Given the description of an element on the screen output the (x, y) to click on. 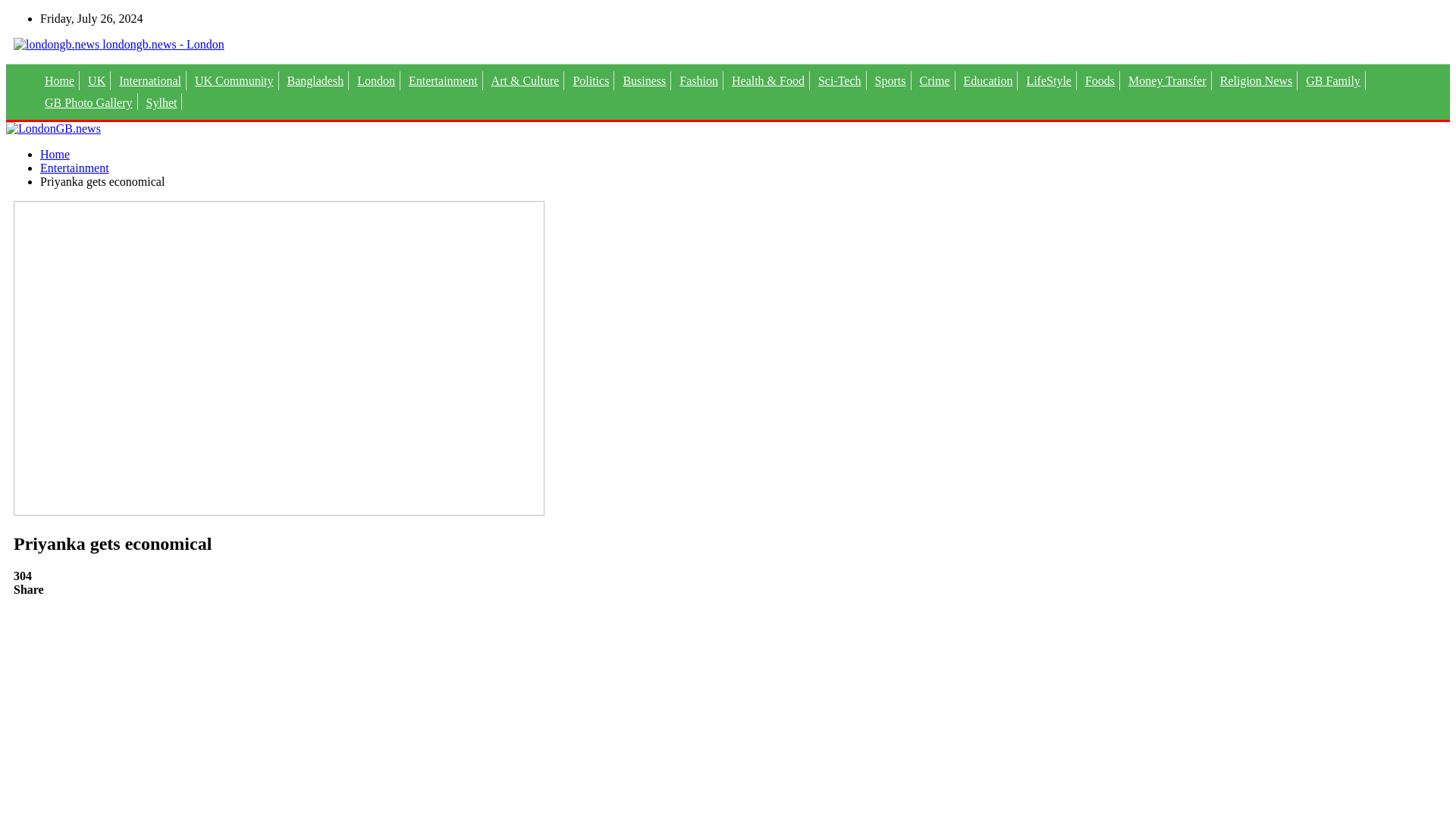
London (375, 80)
londongb.news - London (118, 43)
Bangladesh (315, 80)
Fashion (698, 80)
Home (59, 80)
Sports (890, 80)
Business (643, 80)
Sci-Tech (839, 80)
Education (988, 80)
LifeStyle (1048, 80)
Politics (589, 80)
Foods (1099, 80)
Entertainment (74, 167)
Money Transfer (1167, 80)
International (150, 80)
